Given the description of an element on the screen output the (x, y) to click on. 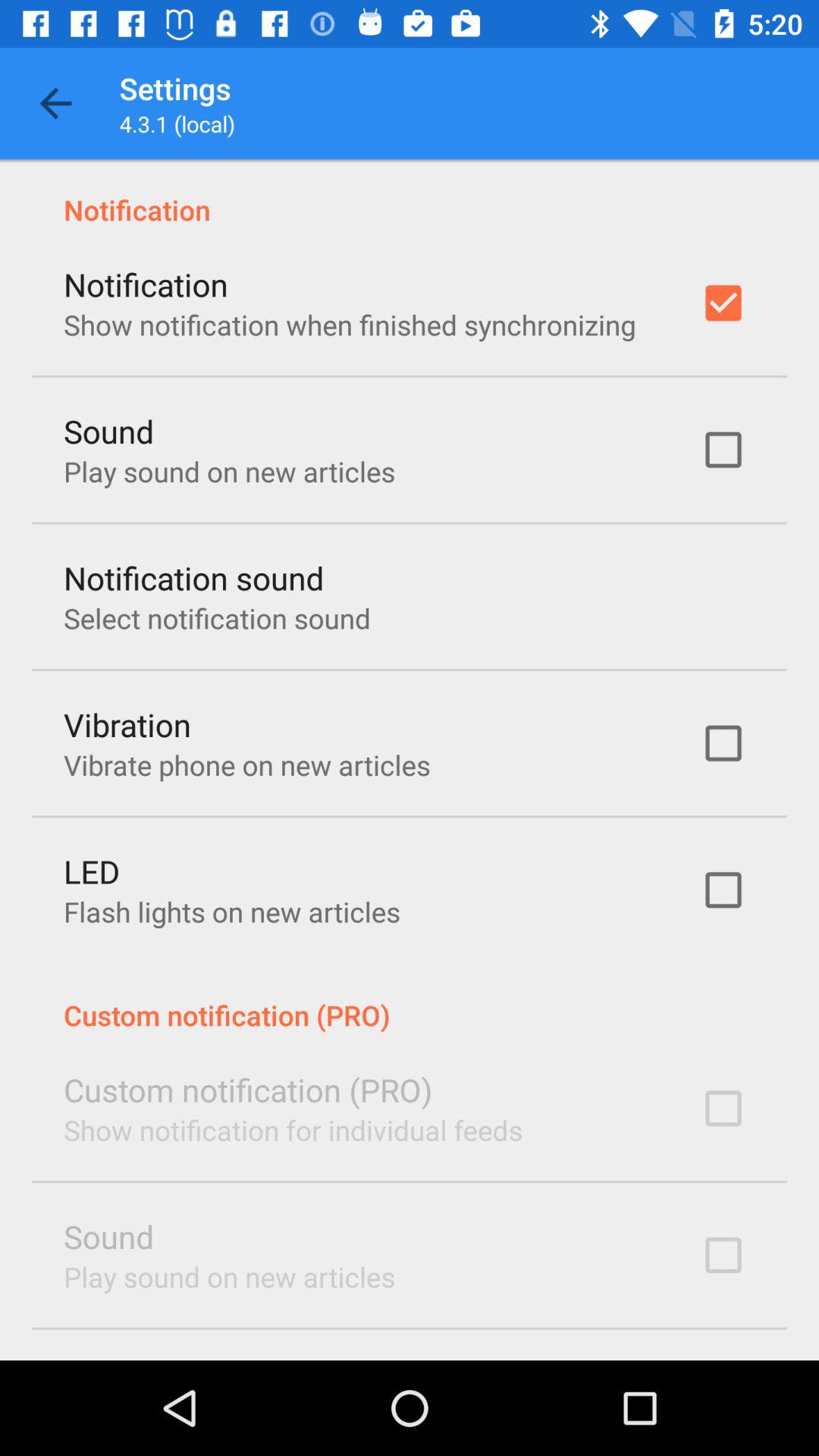
turn on item above vibrate phone on (127, 724)
